Given the description of an element on the screen output the (x, y) to click on. 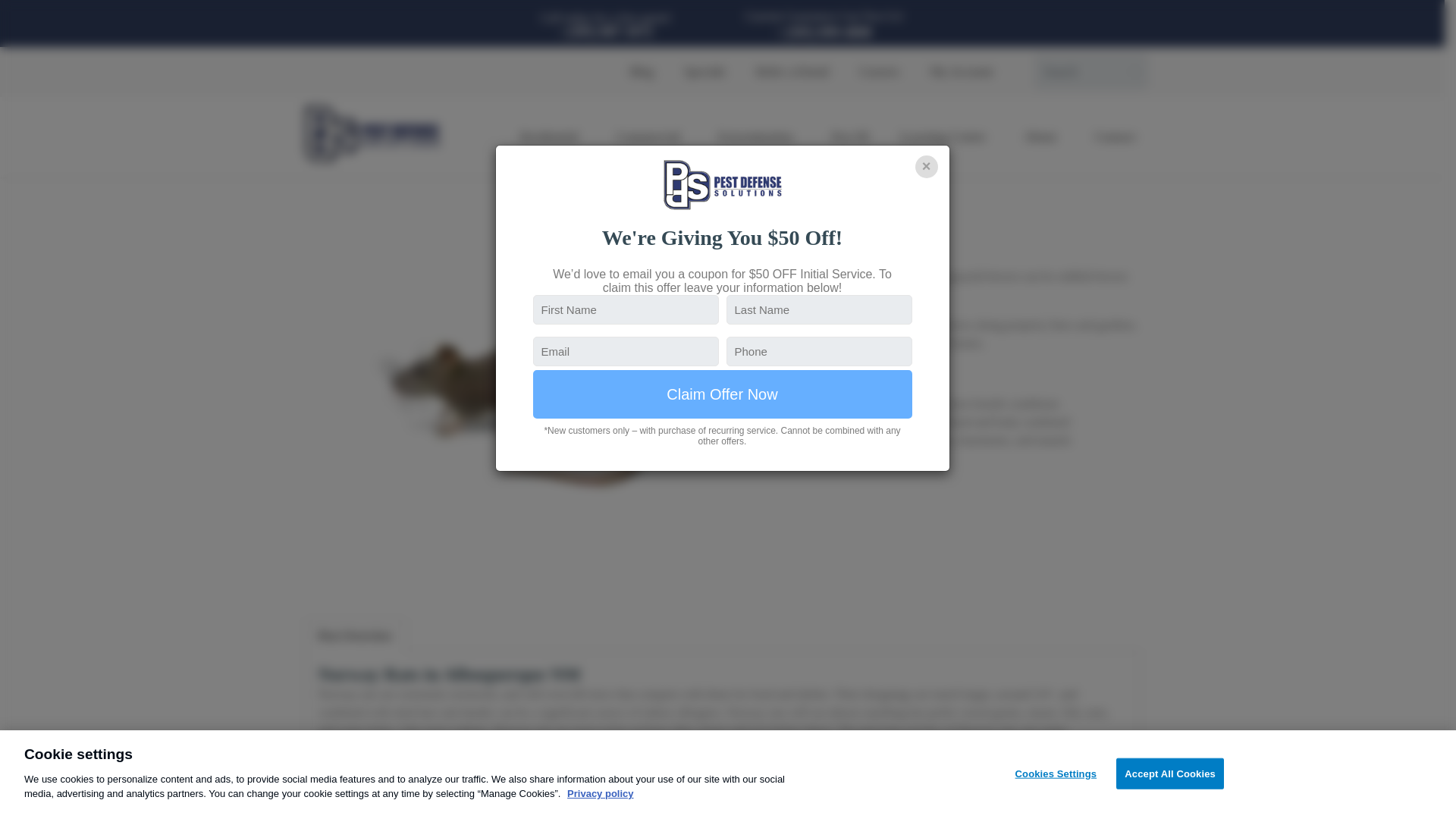
Refer a friend (792, 71)
Claim Offer Now (721, 394)
Specials (704, 71)
Commercial (650, 136)
Blog (641, 71)
Residential (552, 136)
Careers (879, 71)
Extermination (759, 136)
Chat with us now! (1420, 783)
My Account (965, 71)
